Given the description of an element on the screen output the (x, y) to click on. 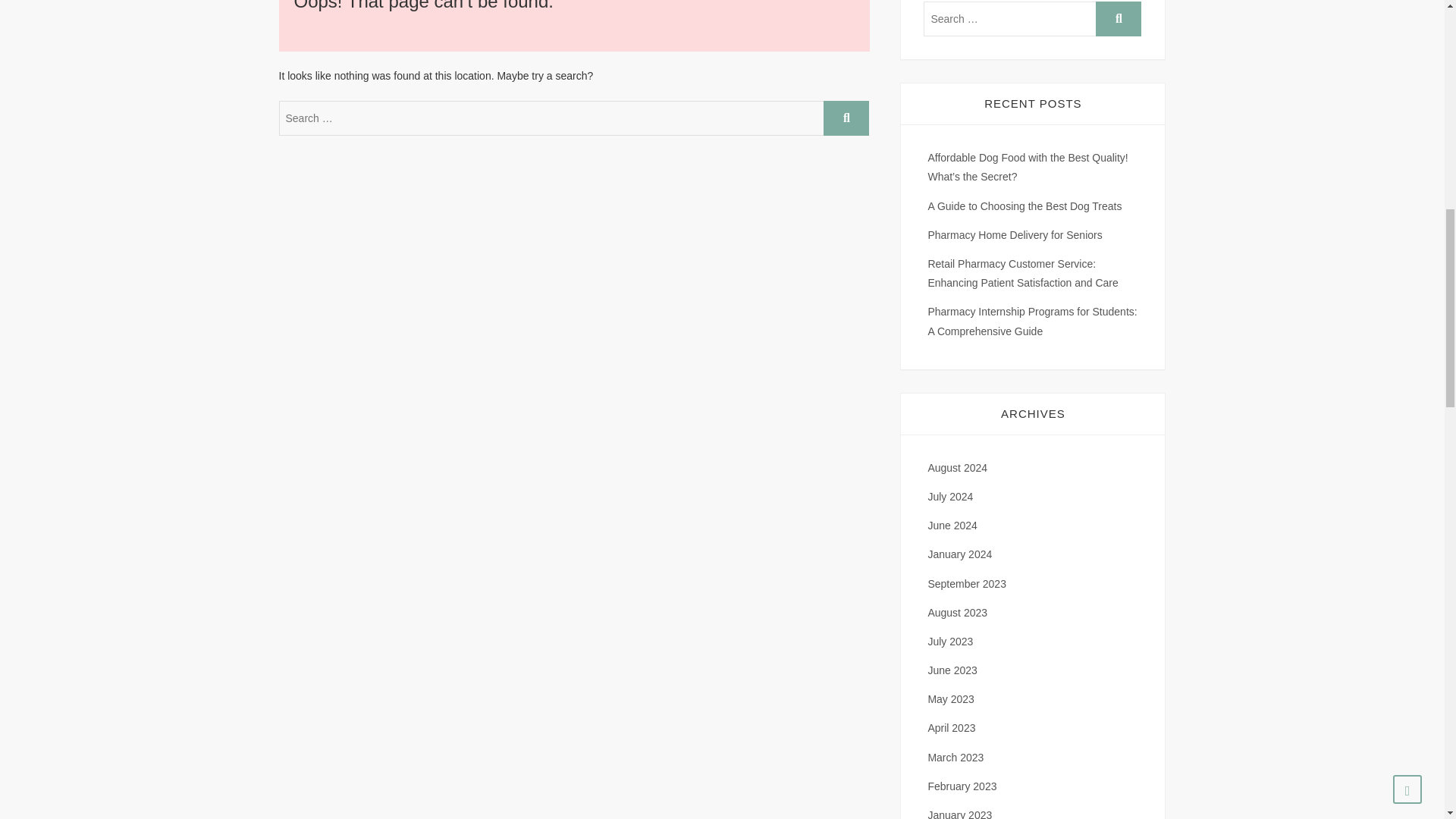
A Guide to Choosing the Best Dog Treats (1024, 205)
Pharmacy Home Delivery for Seniors (1014, 234)
August 2024 (957, 467)
